Given the description of an element on the screen output the (x, y) to click on. 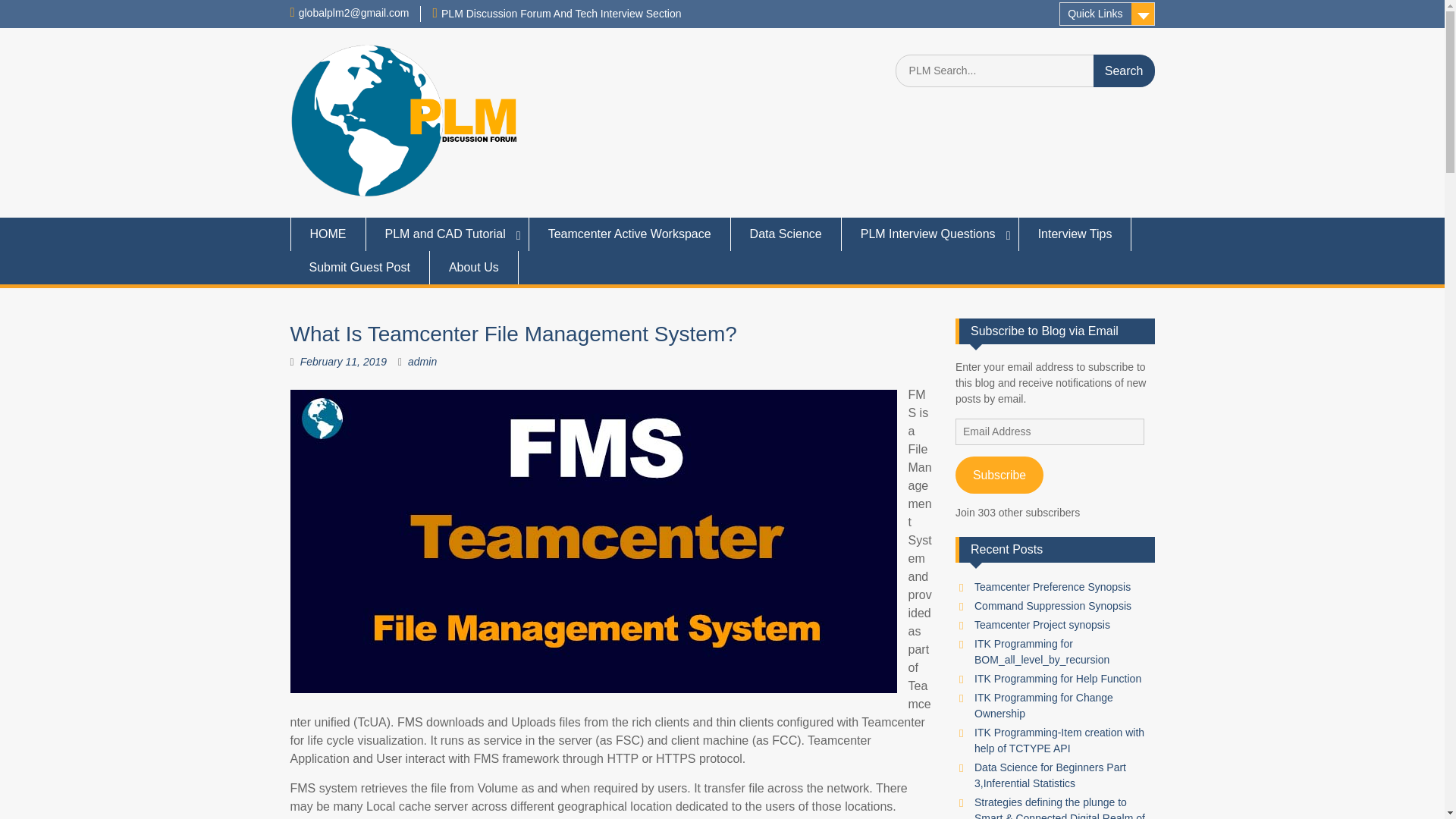
Teamcenter Active Workspace (629, 233)
Submit Guest Post (359, 267)
Search for: (1024, 70)
Search (1123, 70)
admin (421, 361)
Interview Tips (1075, 233)
Quick Links (1106, 13)
PLM and CAD Tutorial (446, 233)
Search (1123, 70)
Search (1123, 70)
